Given the description of an element on the screen output the (x, y) to click on. 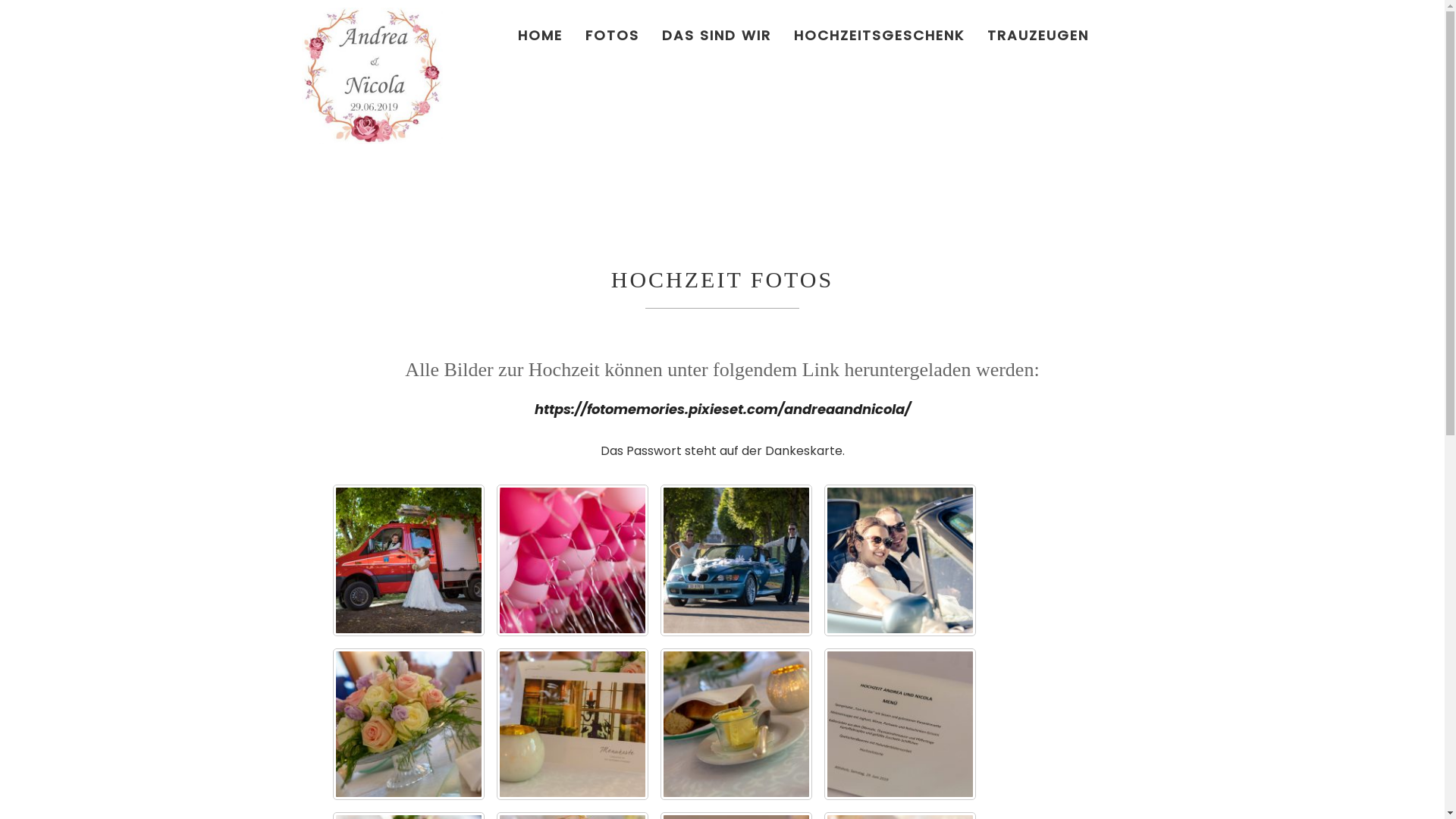
HOME Element type: text (540, 35)
fotoMEMORIES_A & N_0361 Element type: hover (899, 560)
fotoMEMORIES_A & N_0261 Element type: hover (572, 560)
fotoMEMORIES_A & N_0374 Element type: hover (408, 724)
https://fotomemories.pixieset.com/andreaandnicola/ Element type: text (721, 408)
fotoMEMORIES_A & N_0234 Element type: hover (408, 560)
fotoMEMORIES_A & N_0376 Element type: hover (736, 724)
FOTOS Element type: text (611, 35)
fotoMEMORIES_A & N_0375 Element type: hover (572, 724)
fotoMEMORIES_A & N_0318 Element type: hover (736, 560)
HOCHZEITSGESCHENK Element type: text (878, 35)
DAS SIND WIR Element type: text (716, 35)
TRAUZEUGEN Element type: text (1037, 35)
fotoMEMORIES_A & N_0377 Element type: hover (899, 724)
